Given the description of an element on the screen output the (x, y) to click on. 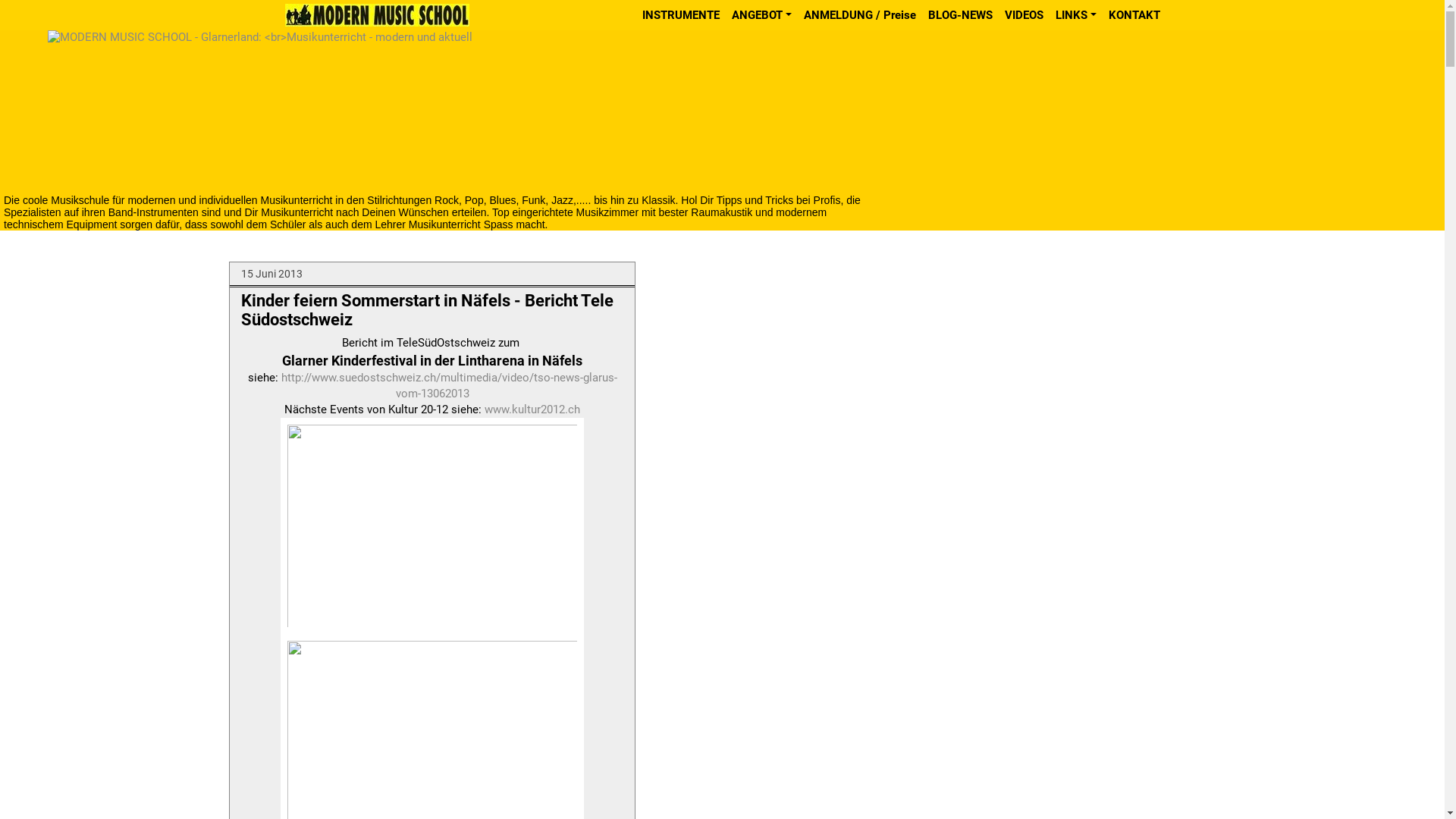
KONTAKT Element type: text (1134, 15)
ANMELDUNG / Preise Element type: text (859, 15)
BLOG-NEWS Element type: text (960, 15)
ANGEBOT Element type: text (761, 15)
LINKS Element type: text (1075, 15)
INSTRUMENTE Element type: text (680, 15)
www.kultur2012.ch Element type: text (532, 409)
VIDEOS Element type: text (1023, 15)
